Given the description of an element on the screen output the (x, y) to click on. 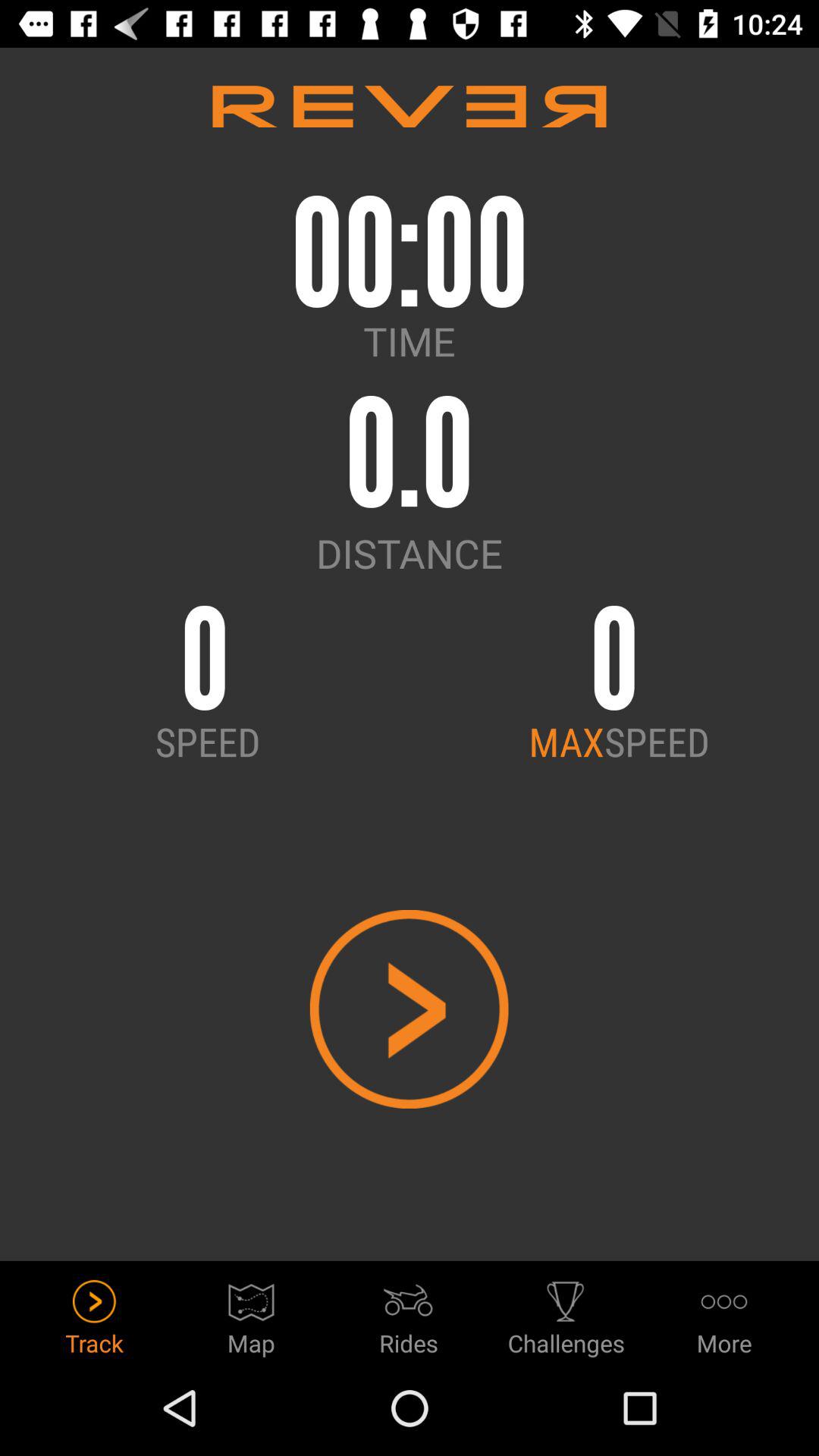
open icon to the right of the rides icon (566, 1313)
